Given the description of an element on the screen output the (x, y) to click on. 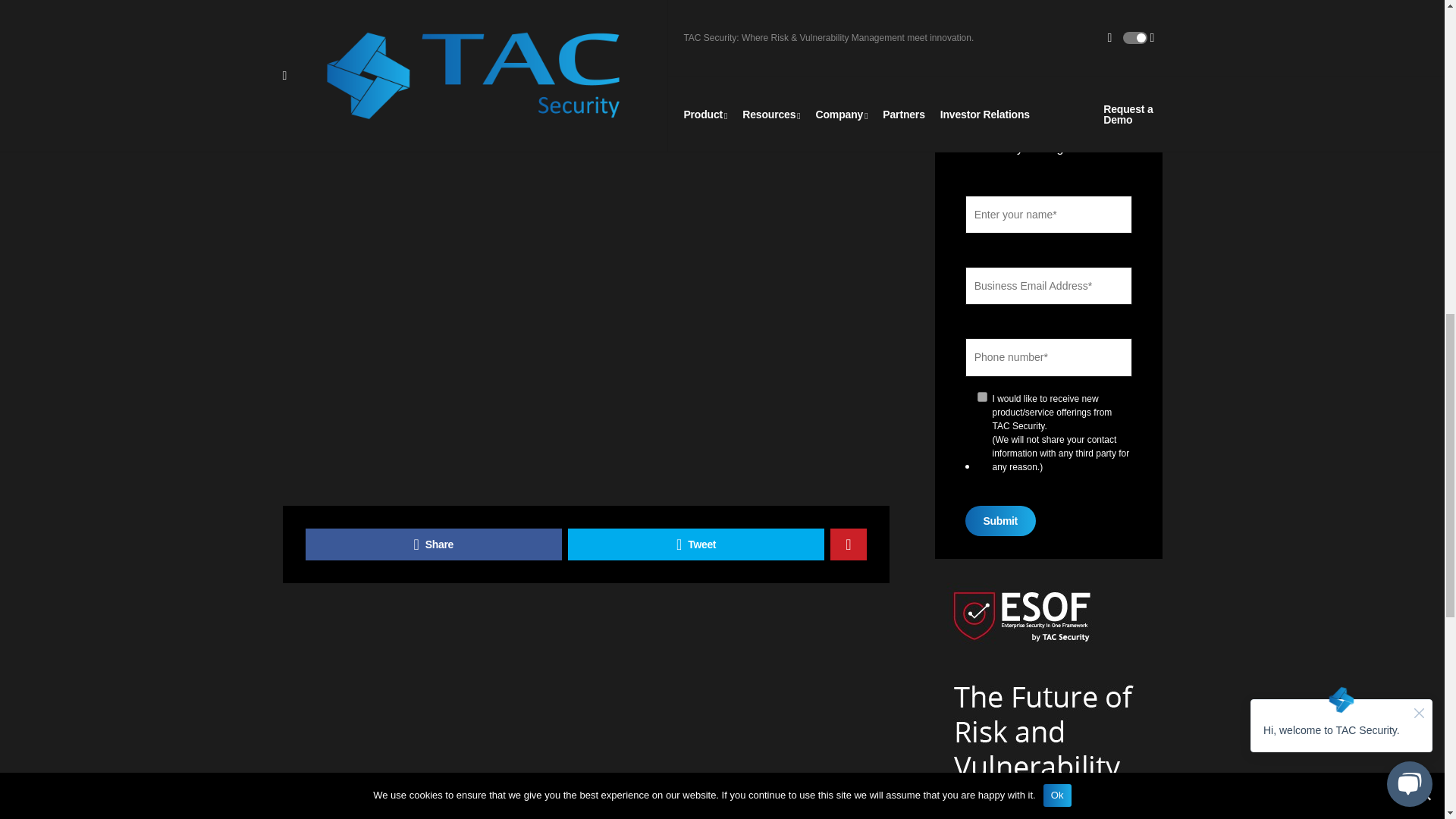
Submit (999, 521)
true (981, 397)
